Given the description of an element on the screen output the (x, y) to click on. 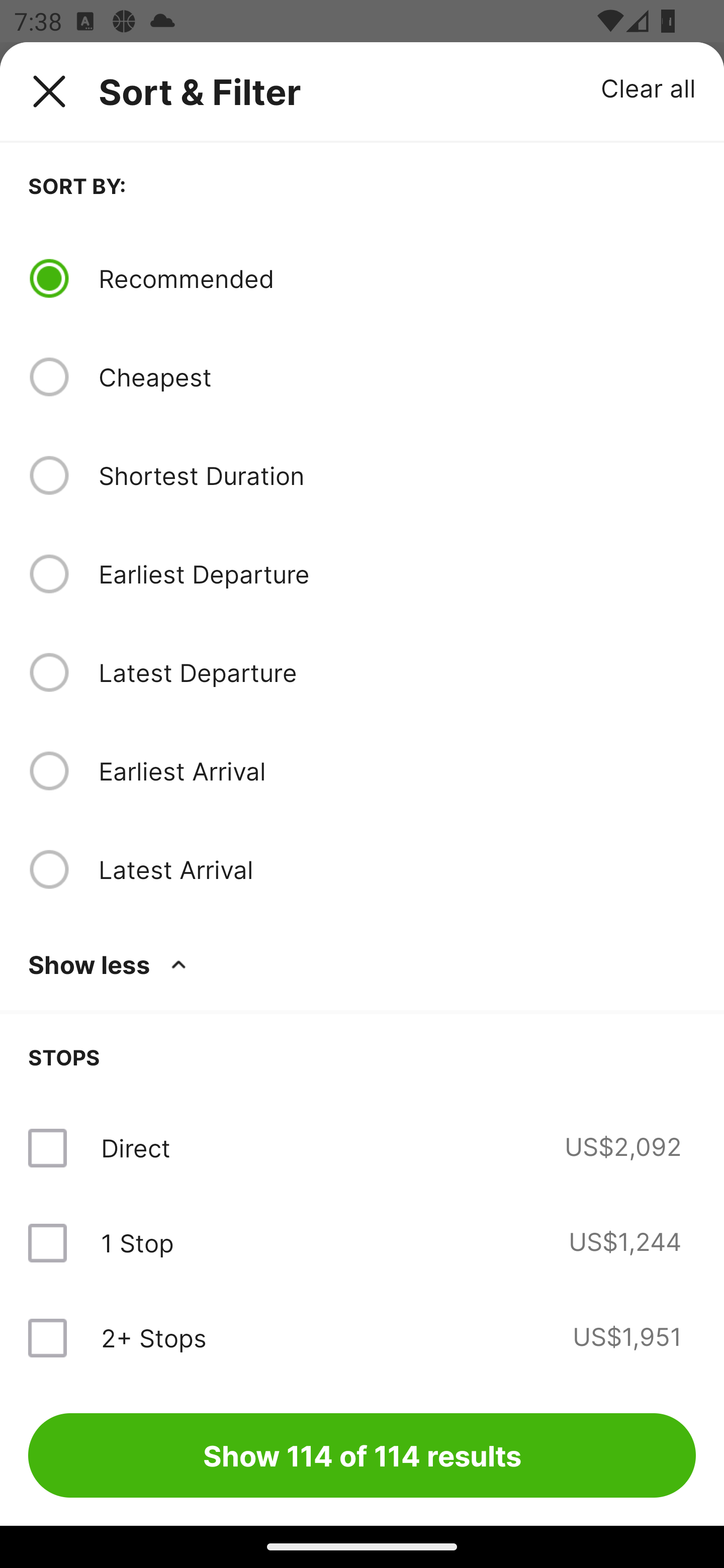
Clear all (648, 87)
Recommended  (396, 278)
Cheapest (396, 377)
Shortest Duration (396, 474)
Earliest Departure (396, 573)
Latest Departure (396, 672)
Earliest Arrival (396, 770)
Latest Arrival (396, 869)
Show less (110, 964)
Direct US$2,092 (362, 1147)
Direct (135, 1147)
1 Stop US$1,244 (362, 1242)
1 Stop (136, 1242)
2+ Stops US$1,951 (362, 1337)
2+ Stops (153, 1337)
Show 114 of 114 results (361, 1454)
